Given the description of an element on the screen output the (x, y) to click on. 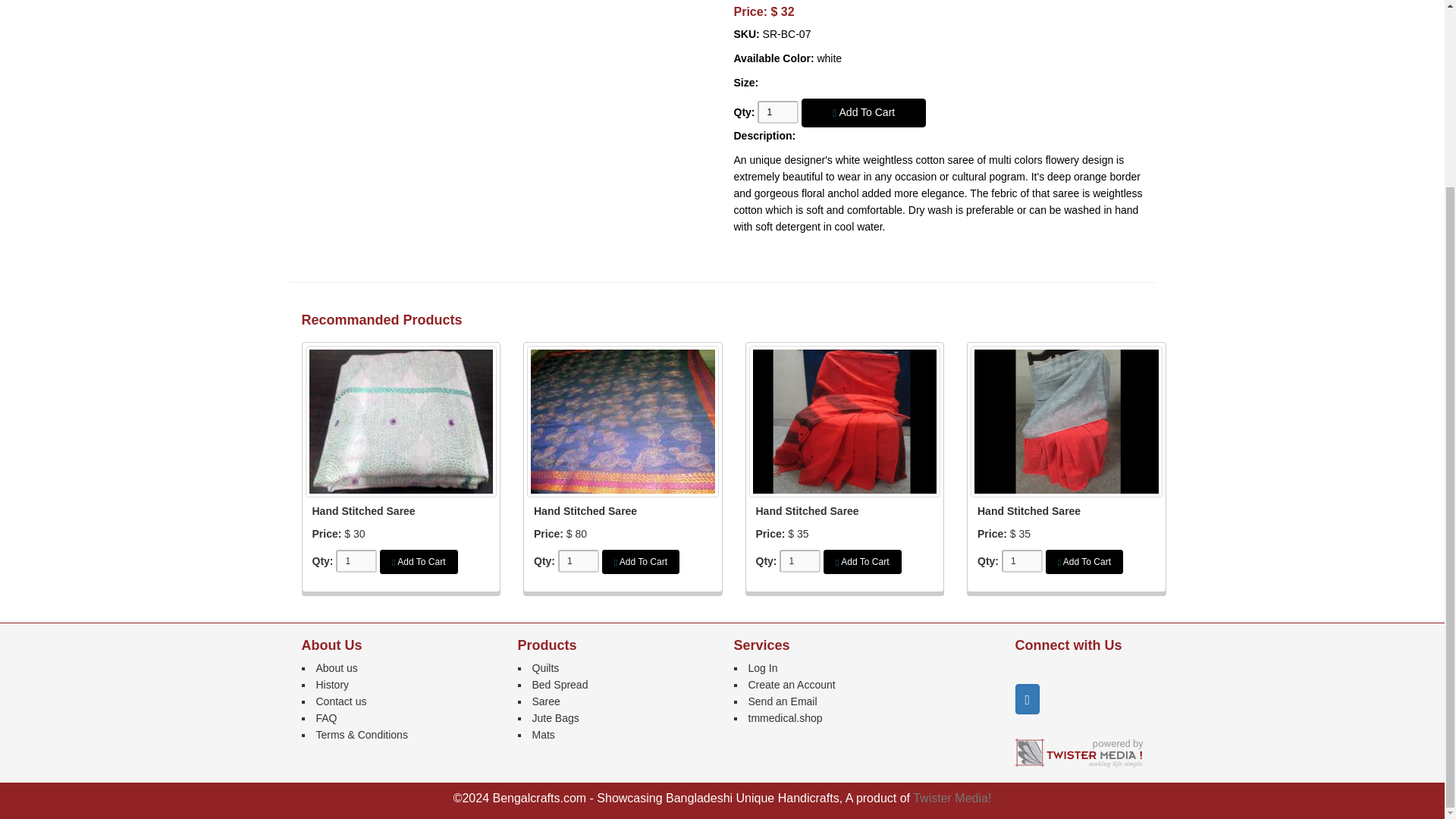
1 (777, 124)
Hand Stitched Saree (807, 522)
Hand Stitched Saree (585, 522)
1 (799, 572)
1 (1021, 572)
1 (577, 572)
Hand Stitched Saree (363, 522)
Add To Cart (862, 573)
Add To Cart (864, 124)
Add To Cart (418, 573)
